Given the description of an element on the screen output the (x, y) to click on. 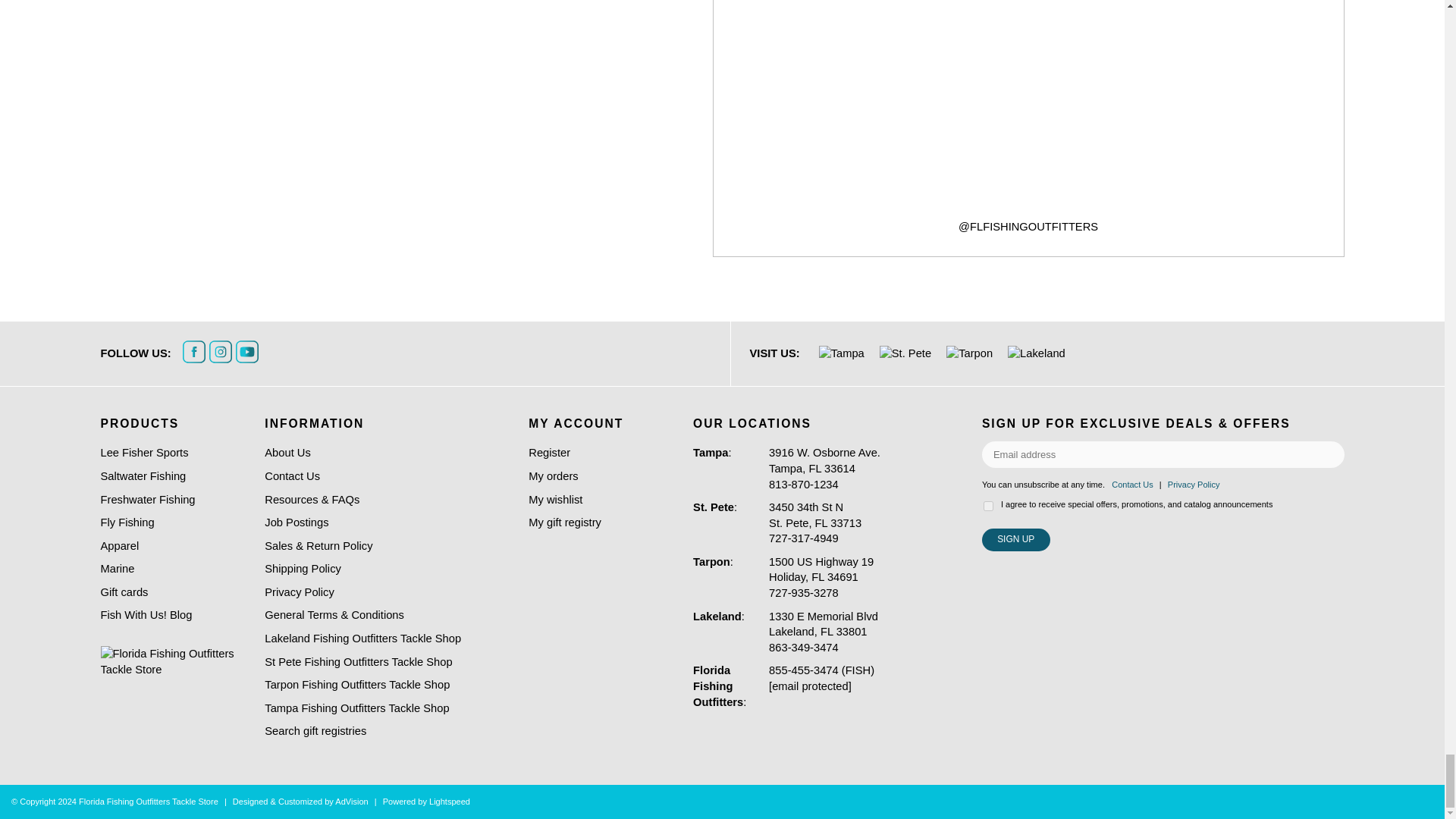
on (988, 506)
